Given the description of an element on the screen output the (x, y) to click on. 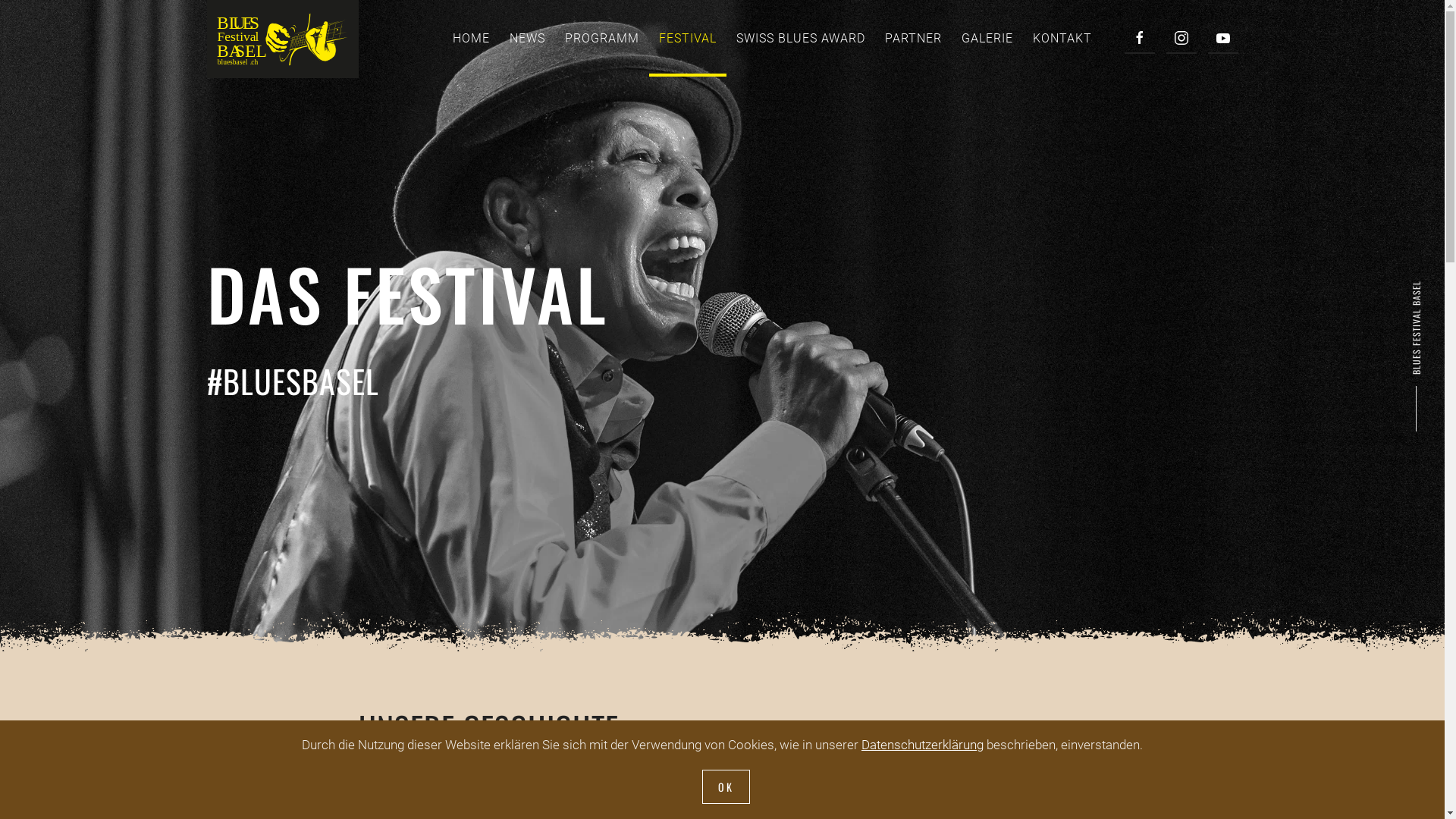
HOME Element type: text (470, 38)
PROGRAMM Element type: text (602, 38)
GALERIE Element type: text (986, 38)
OK Element type: text (725, 786)
PARTNER Element type: text (913, 38)
FESTIVAL Element type: text (687, 38)
NEWS Element type: text (526, 38)
SWISS BLUES AWARD Element type: text (800, 38)
KONTAKT Element type: text (1061, 38)
